Given the description of an element on the screen output the (x, y) to click on. 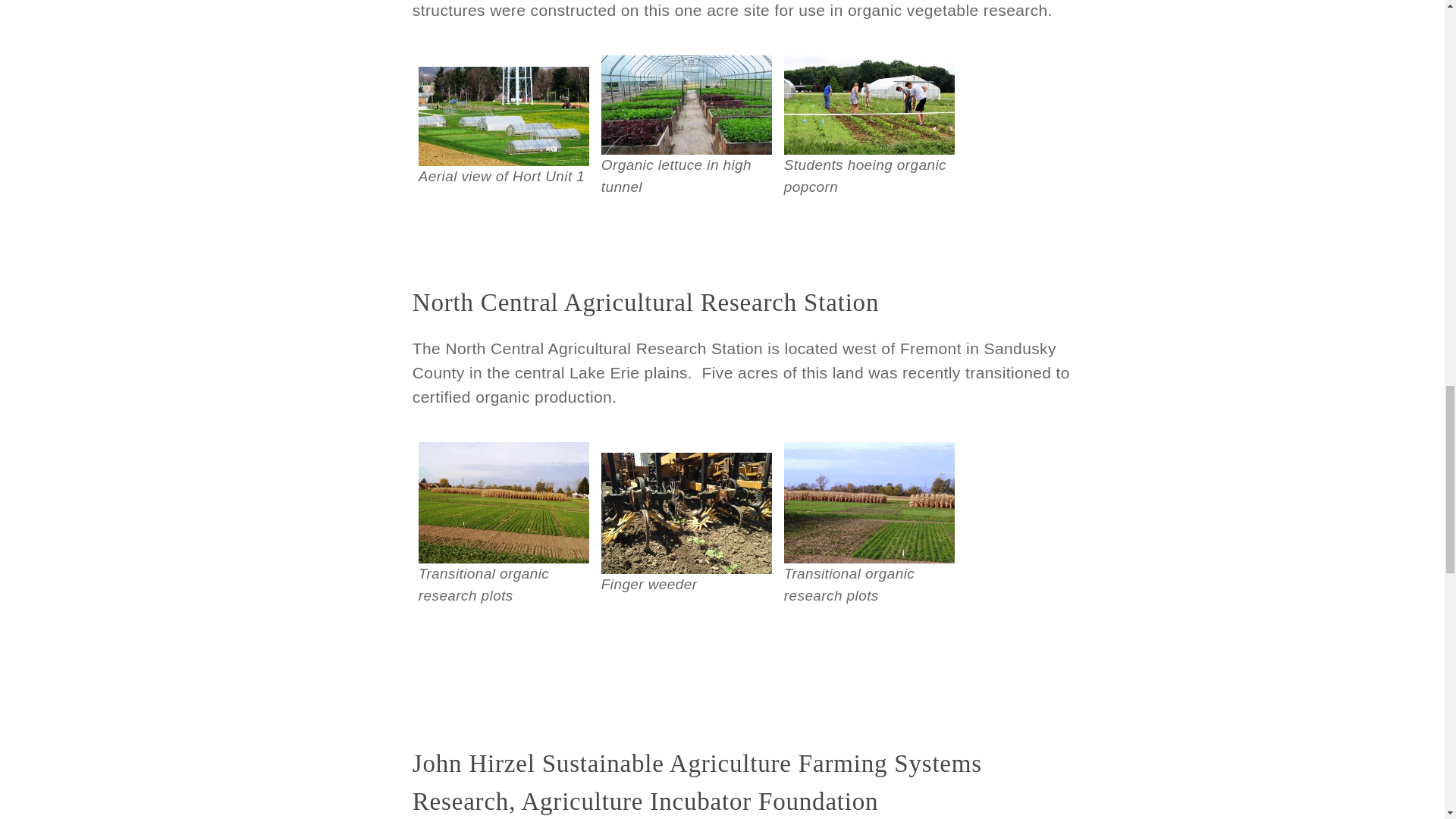
Transitional organic research plots (869, 502)
Aerial view of Hort Unit 1 (504, 116)
Students hoeing organic popcorn (869, 104)
Finger weeder (686, 513)
Transitional organic research plots (504, 502)
Organic lettuce in high tunnel (686, 104)
